Given the description of an element on the screen output the (x, y) to click on. 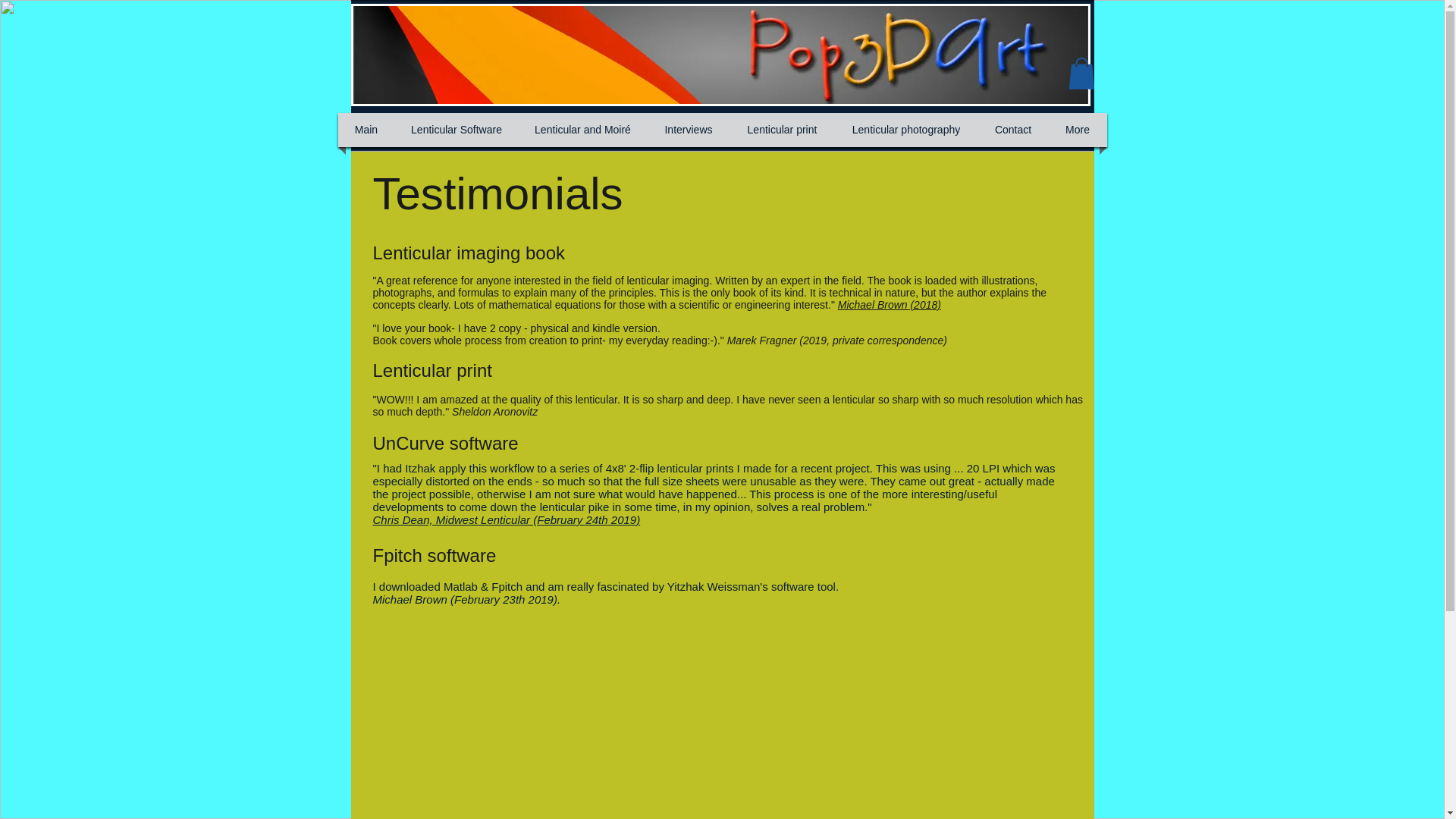
Lenticular photography (906, 130)
Yitzhak Weissman (713, 585)
Lenticular Software (456, 130)
24th (596, 519)
Contact (1012, 130)
Main (365, 130)
Pop3DArt (719, 55)
Lenticular print (782, 130)
